Given the description of an element on the screen output the (x, y) to click on. 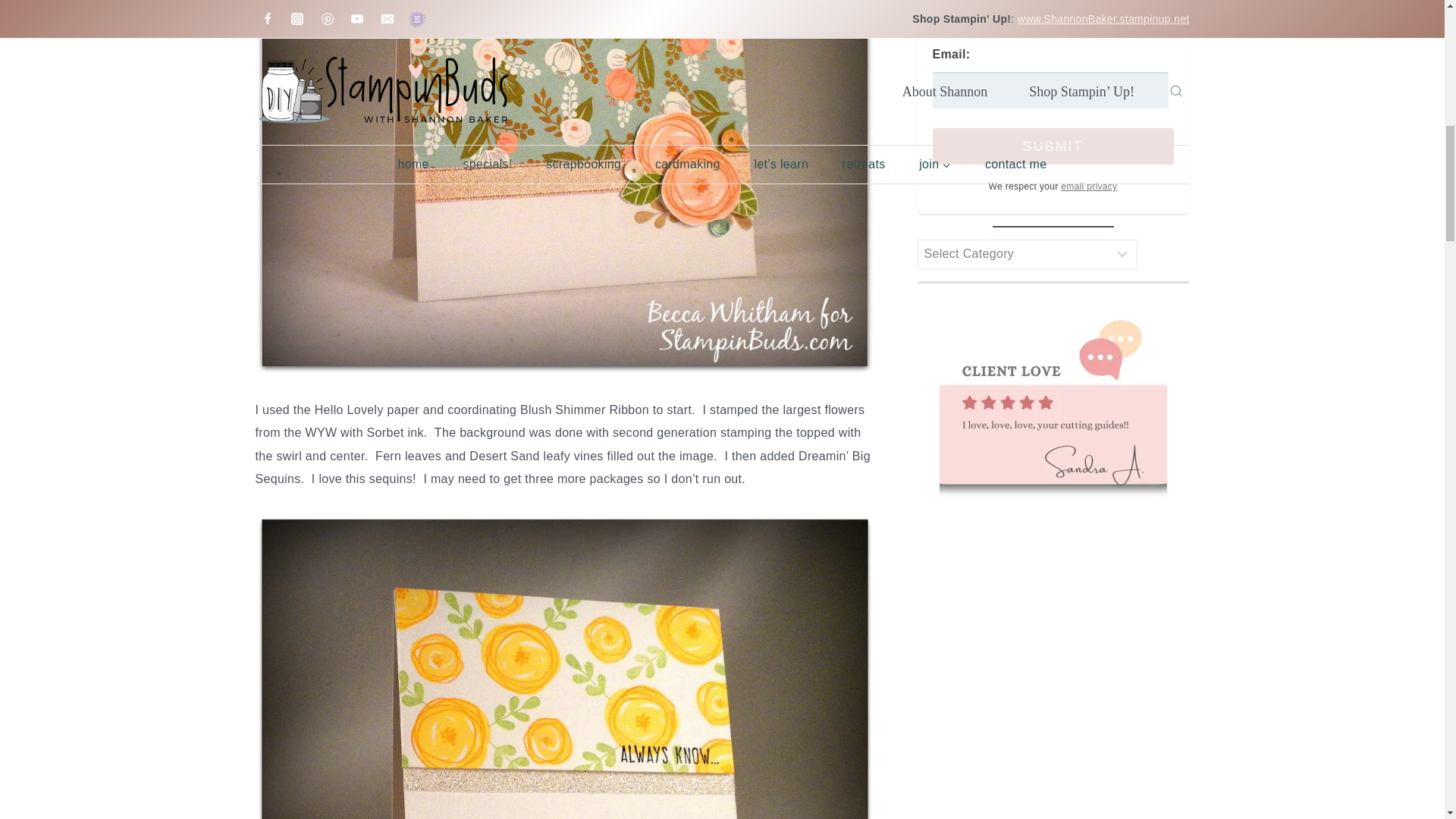
Submit (1053, 145)
